Given the description of an element on the screen output the (x, y) to click on. 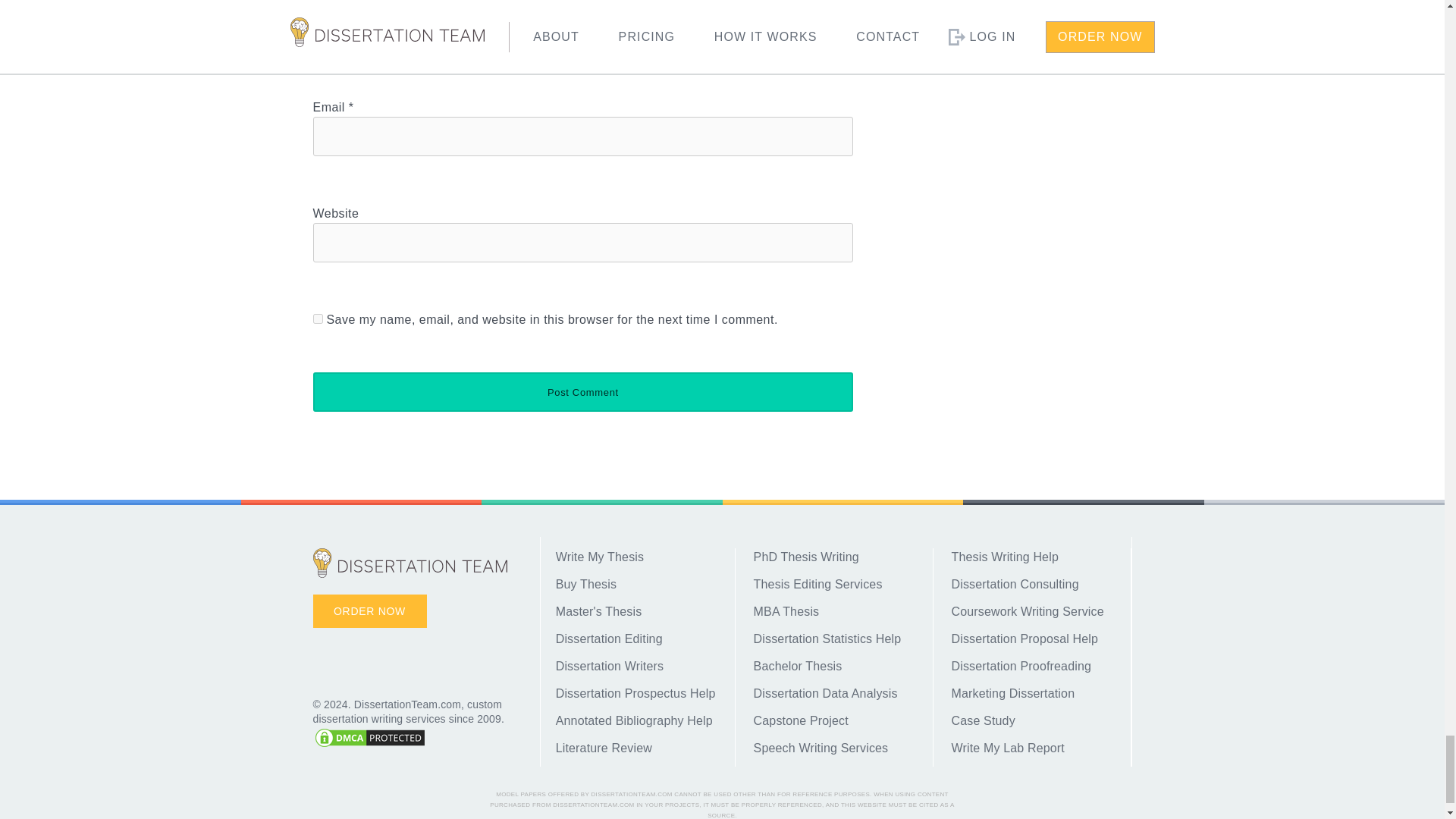
DMCA.com Protection Status (369, 745)
Post Comment (583, 391)
yes (317, 318)
